Given the description of an element on the screen output the (x, y) to click on. 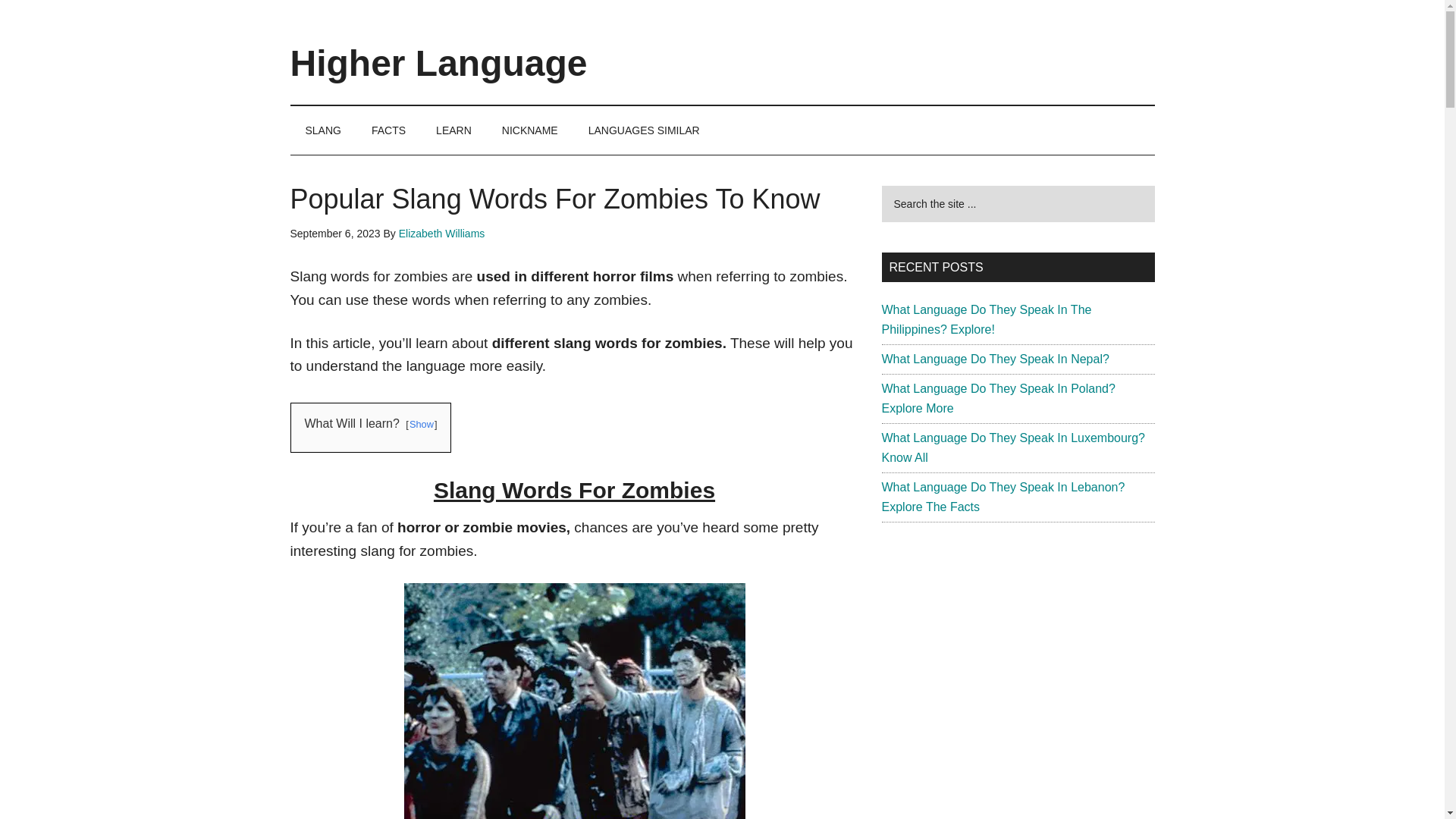
LEARN (453, 130)
Higher Language (437, 63)
LANGUAGES SIMILAR (643, 130)
NICKNAME (529, 130)
FACTS (388, 130)
Elizabeth Williams (441, 233)
Show (421, 423)
